Given the description of an element on the screen output the (x, y) to click on. 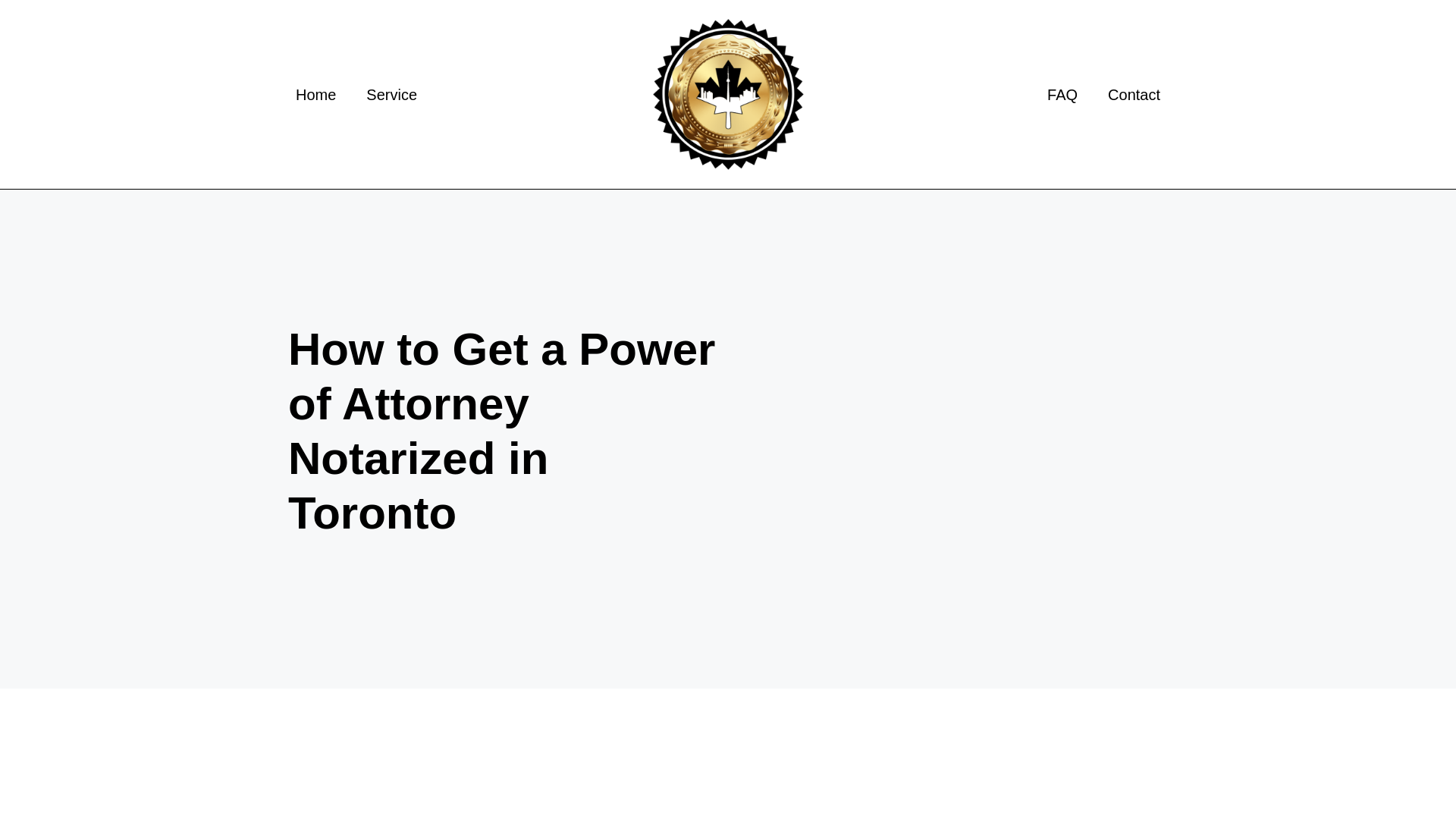
Home (315, 94)
Contact (1133, 94)
Service (391, 94)
FAQ (1062, 94)
